Given the description of an element on the screen output the (x, y) to click on. 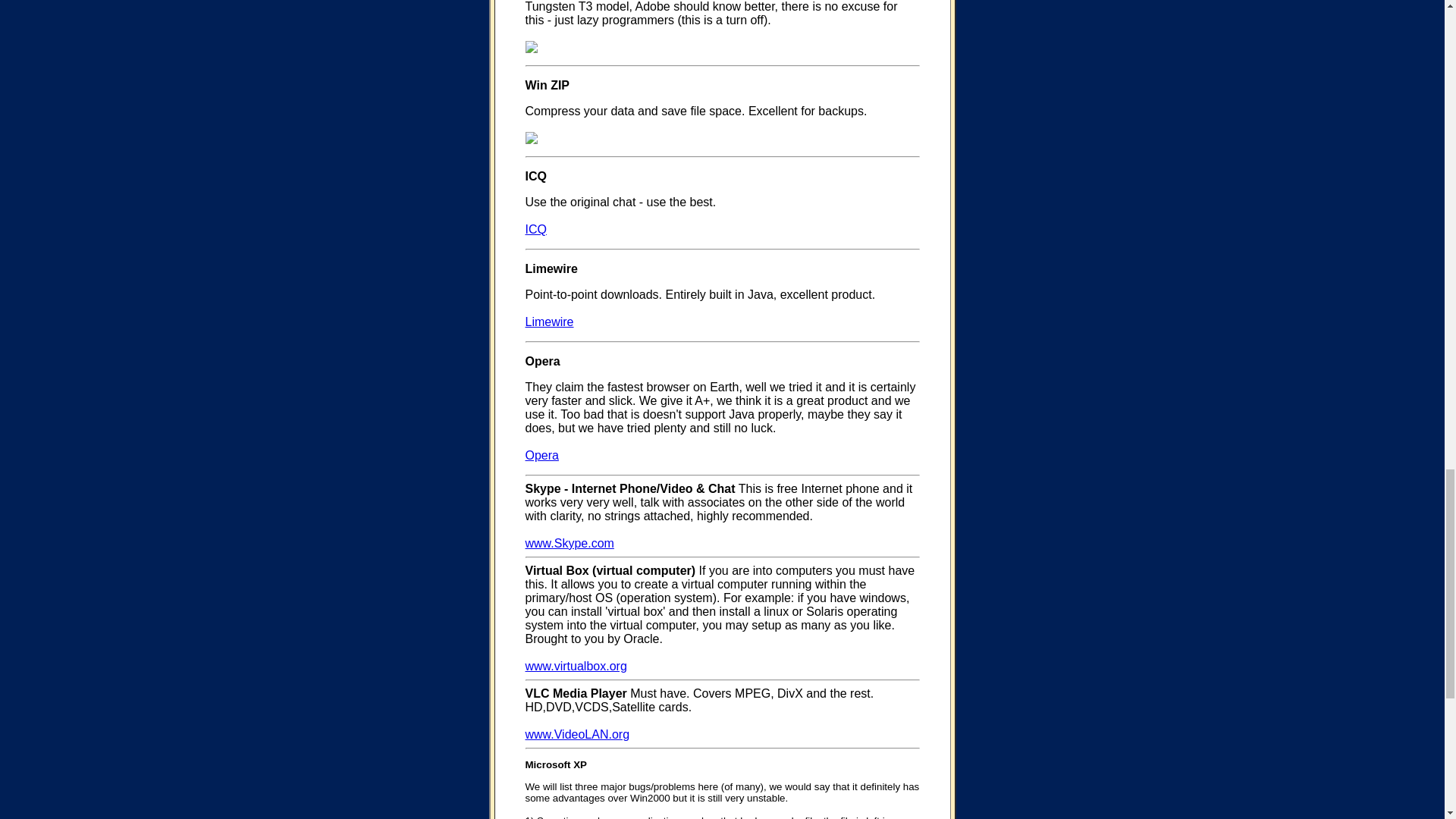
ICQ (535, 228)
www.VideoLAN.org (576, 734)
Limewire (548, 321)
VLC Media Player (575, 693)
www.virtualbox.org (575, 666)
Opera (540, 454)
www.Skype.com (568, 543)
